Given the description of an element on the screen output the (x, y) to click on. 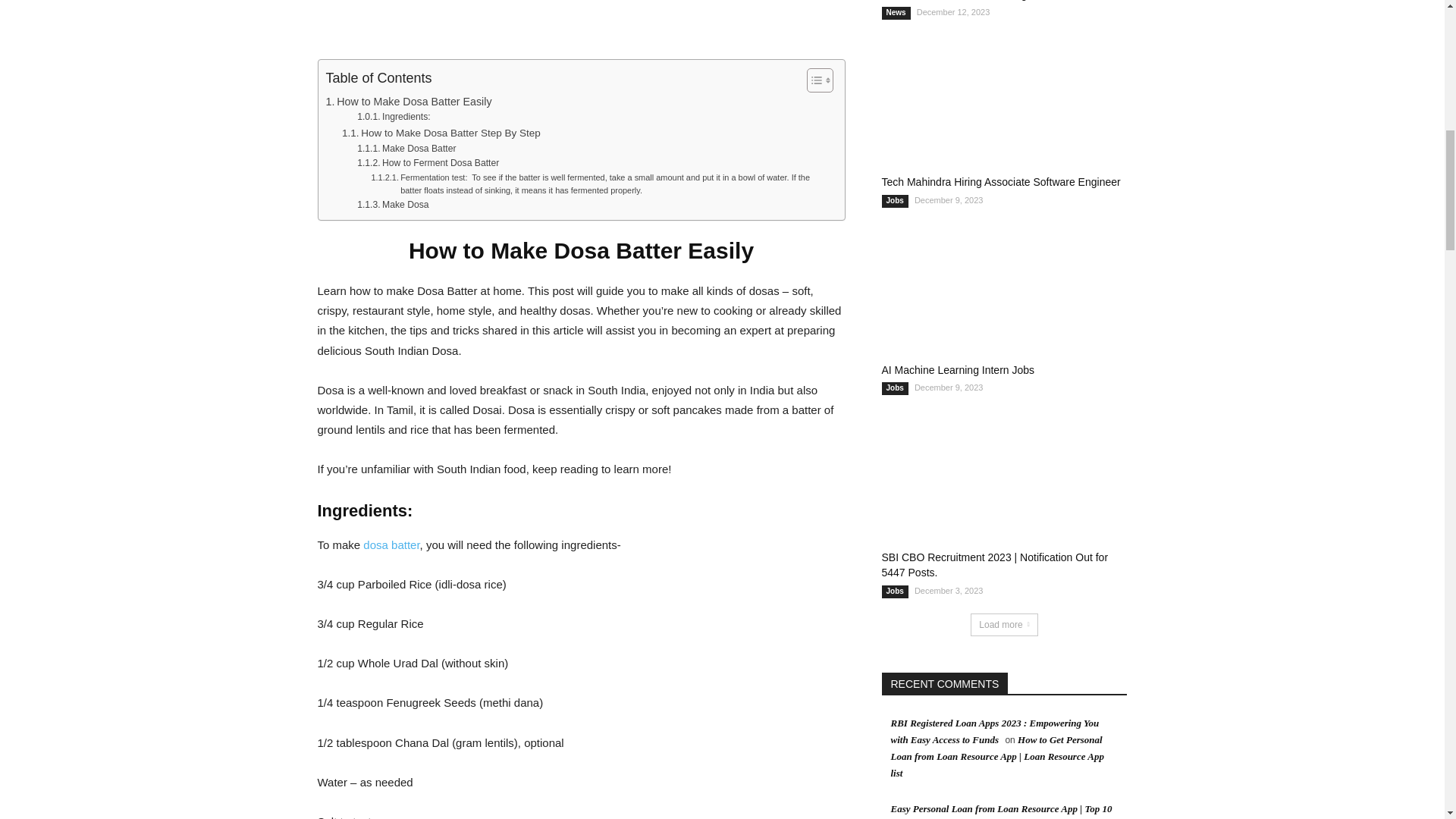
Ingredients: (393, 117)
How to Make Dosa Batter Easily (409, 101)
How to Make Dosa Batter Step By Step (441, 133)
